Given the description of an element on the screen output the (x, y) to click on. 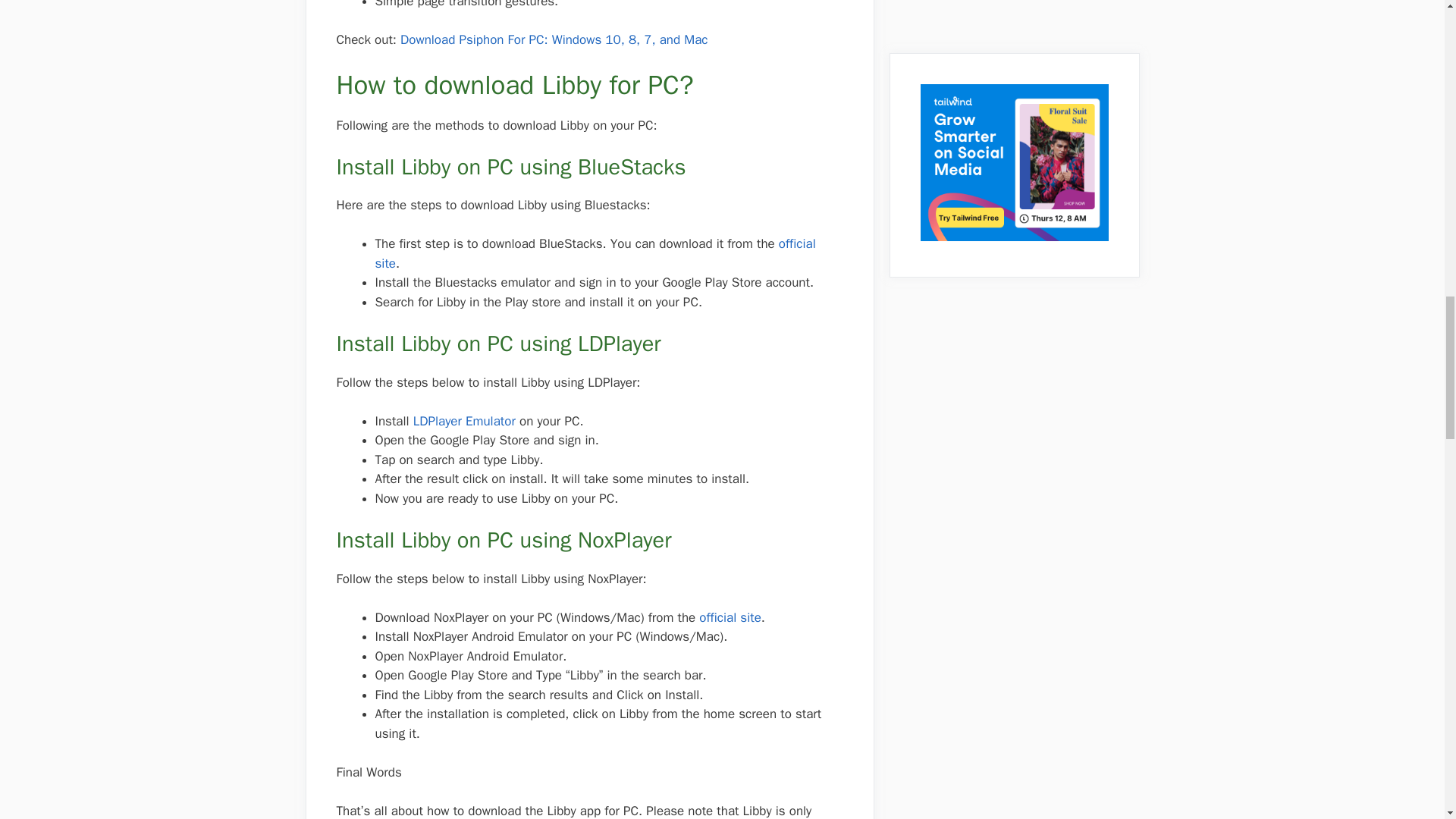
official site (728, 617)
LDPlayer Emulator (462, 421)
official site (594, 253)
Download Psiphon For PC: Windows 10, 8, 7, and Mac (553, 39)
